Given the description of an element on the screen output the (x, y) to click on. 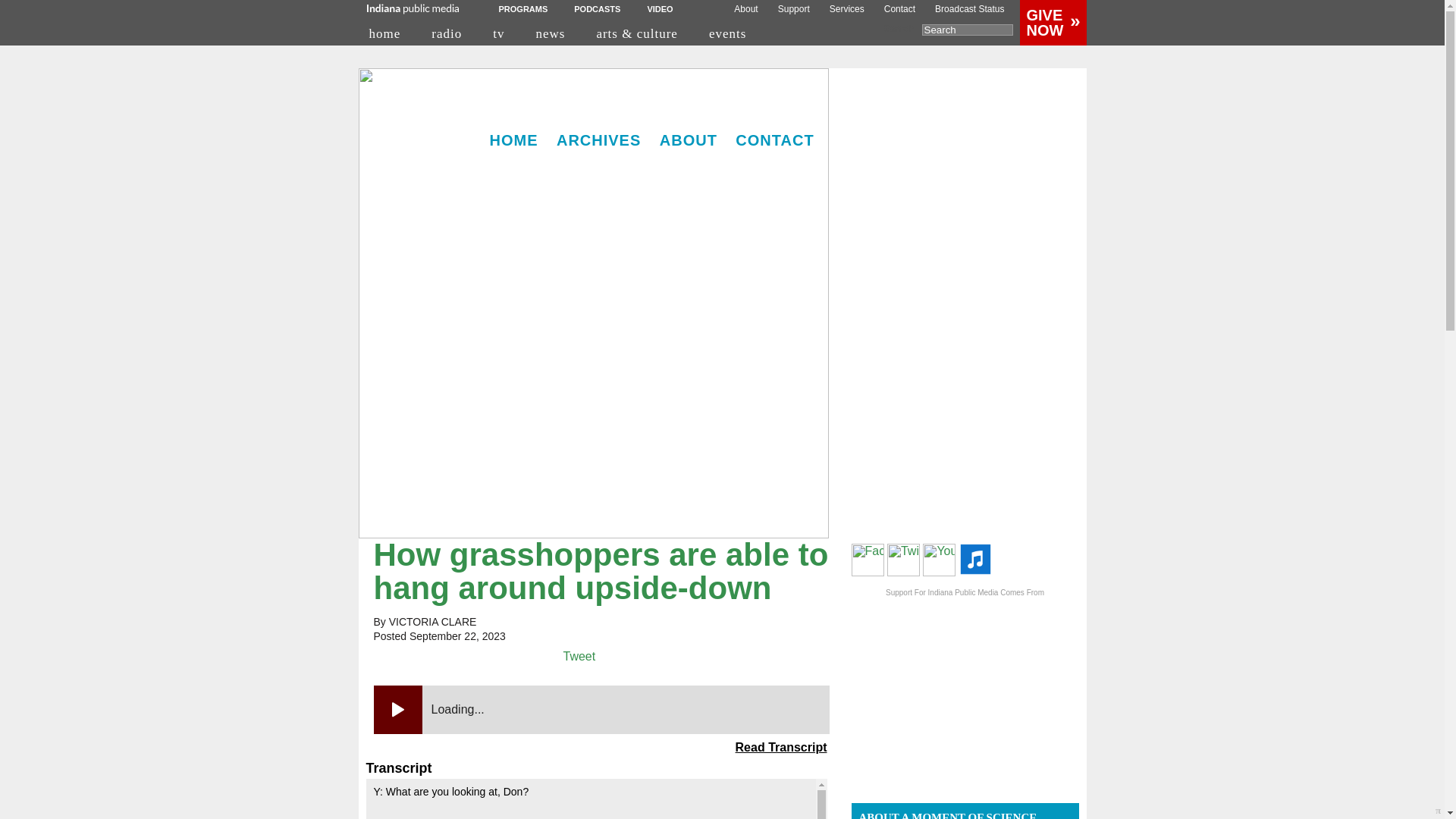
Search (967, 30)
